Given the description of an element on the screen output the (x, y) to click on. 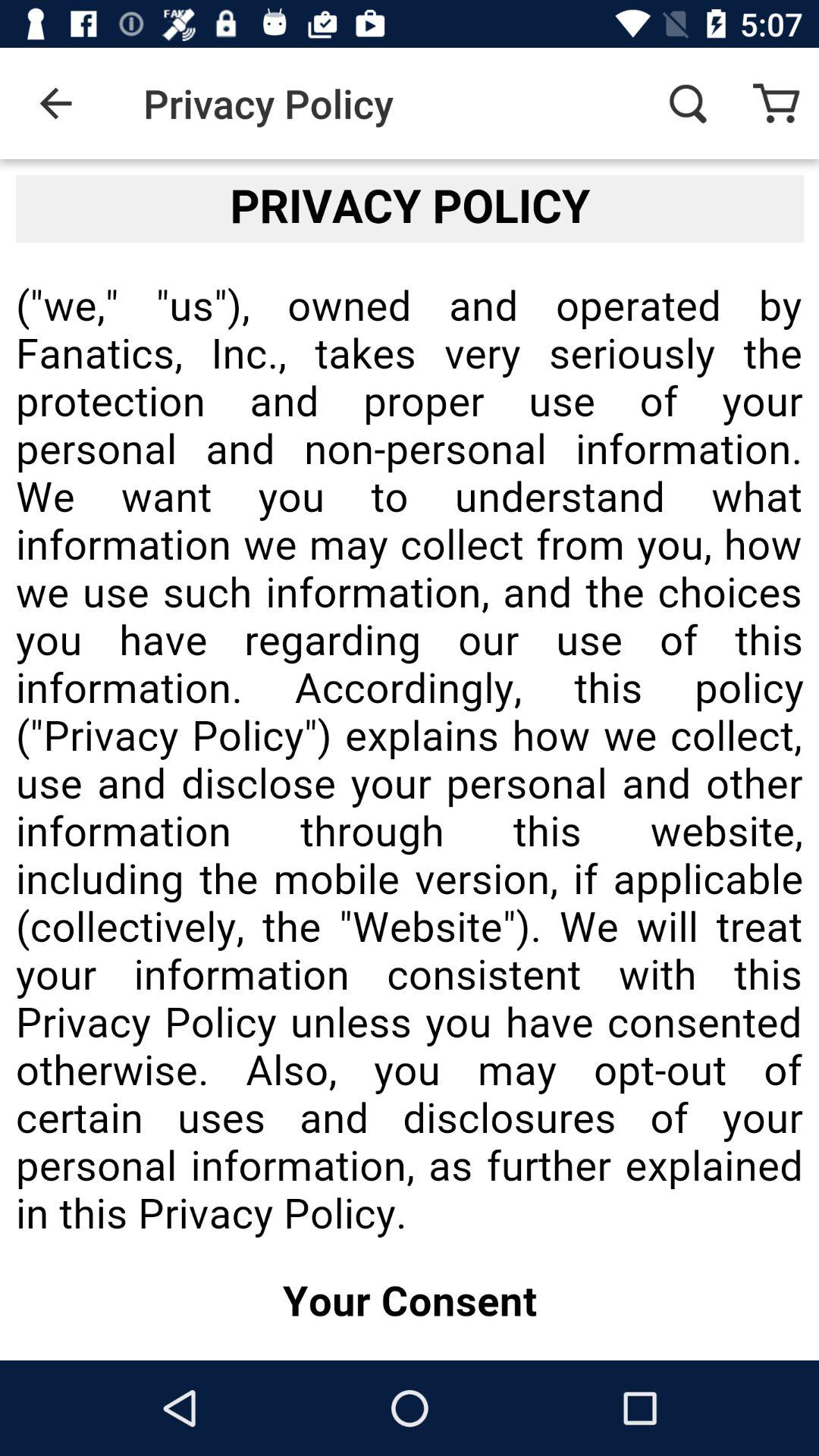
launch item next to the privacy policy icon (55, 103)
